Given the description of an element on the screen output the (x, y) to click on. 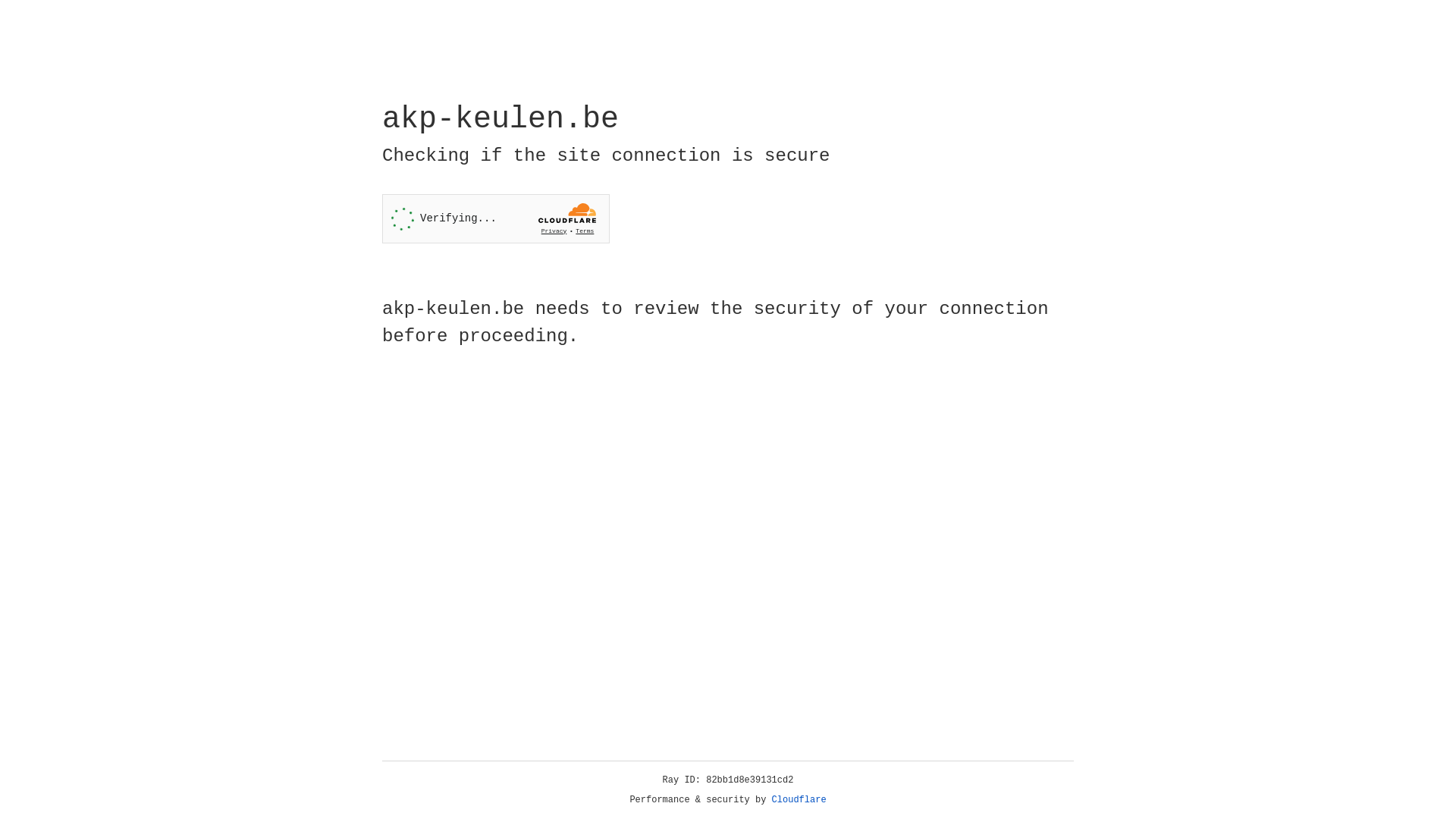
Widget containing a Cloudflare security challenge Element type: hover (495, 218)
Cloudflare Element type: text (798, 799)
